Given the description of an element on the screen output the (x, y) to click on. 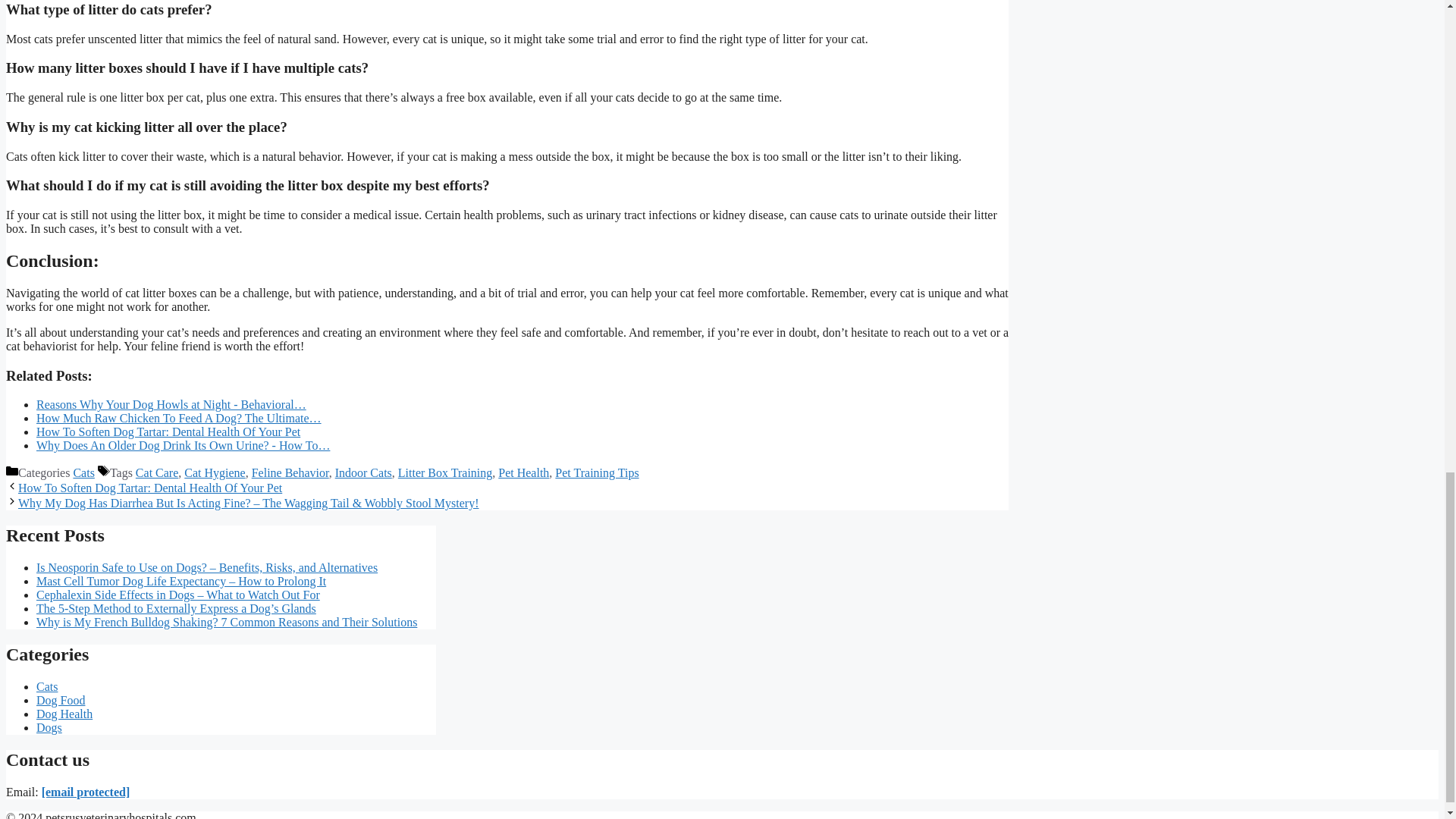
Pet Training Tips (596, 472)
How To Soften Dog Tartar: Dental Health Of Your Pet (149, 487)
Feline Behavior (290, 472)
Cats (47, 686)
Litter Box Training (444, 472)
Dog Health (64, 713)
How To Soften Dog Tartar: Dental Health Of Your Pet (167, 431)
Pet Health (522, 472)
Cat Care (156, 472)
